Given the description of an element on the screen output the (x, y) to click on. 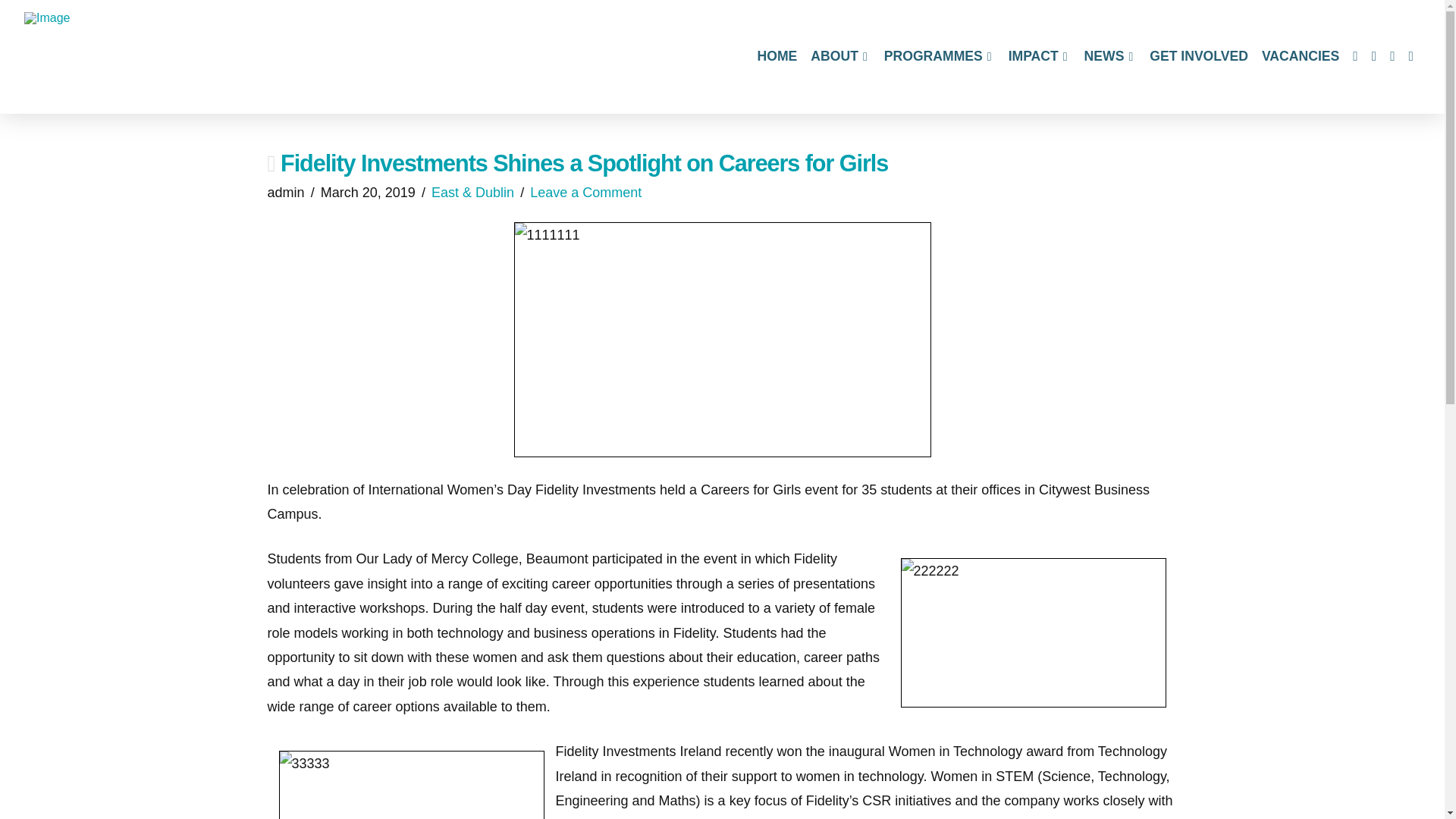
VACANCIES (1300, 56)
PROGRAMMES (939, 56)
GET INVOLVED (1198, 56)
NEWS (1109, 56)
Leave a Comment (585, 192)
IMPACT (1039, 56)
ABOUT (839, 56)
HOME (778, 56)
